Given the description of an element on the screen output the (x, y) to click on. 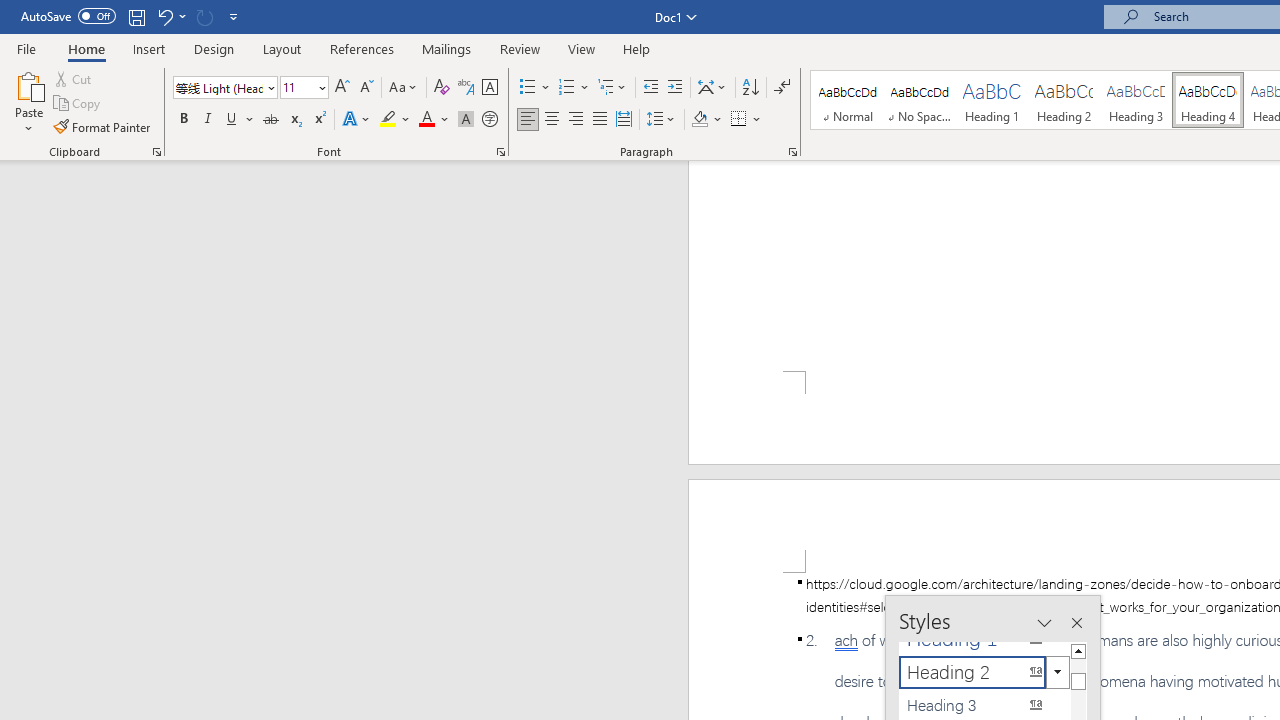
Heading 2 (1063, 100)
Undo Style (164, 15)
